Given the description of an element on the screen output the (x, y) to click on. 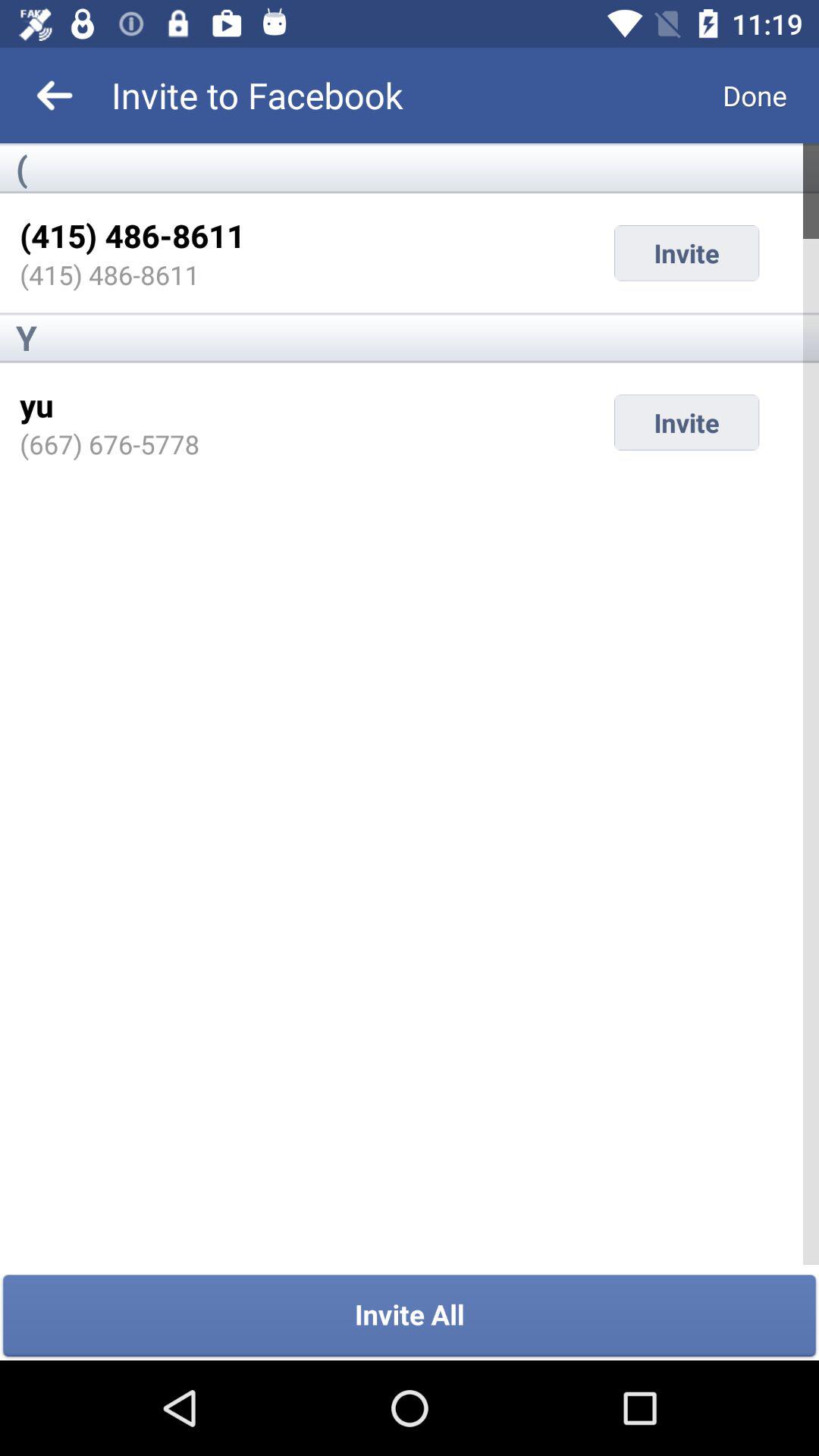
press the item to the right of the invite to facebook icon (755, 95)
